Given the description of an element on the screen output the (x, y) to click on. 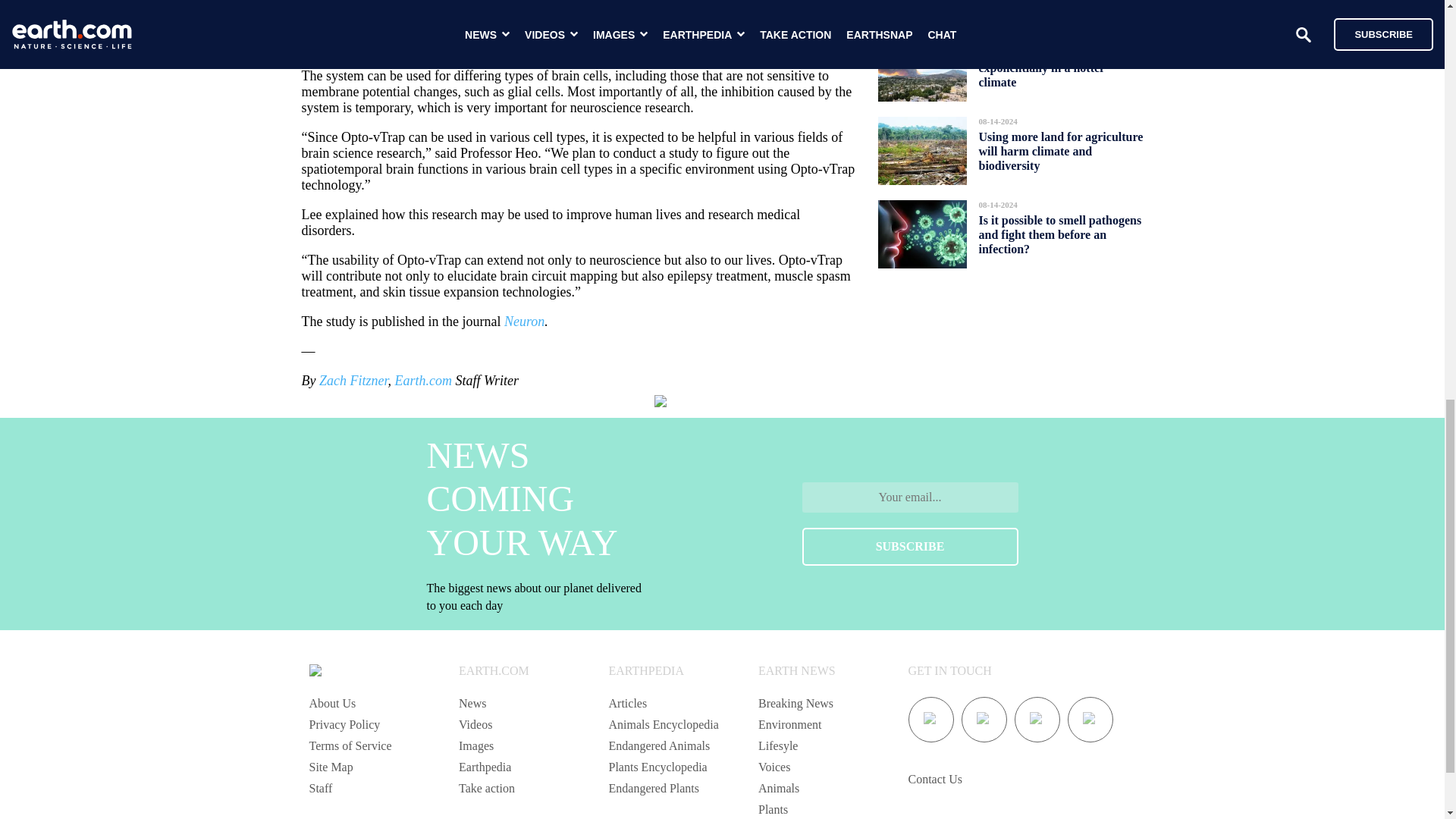
About Us (332, 703)
Neuron (523, 321)
SUBSCRIBE (909, 546)
Earth.com (422, 380)
Zach Fitzner (353, 380)
